Given the description of an element on the screen output the (x, y) to click on. 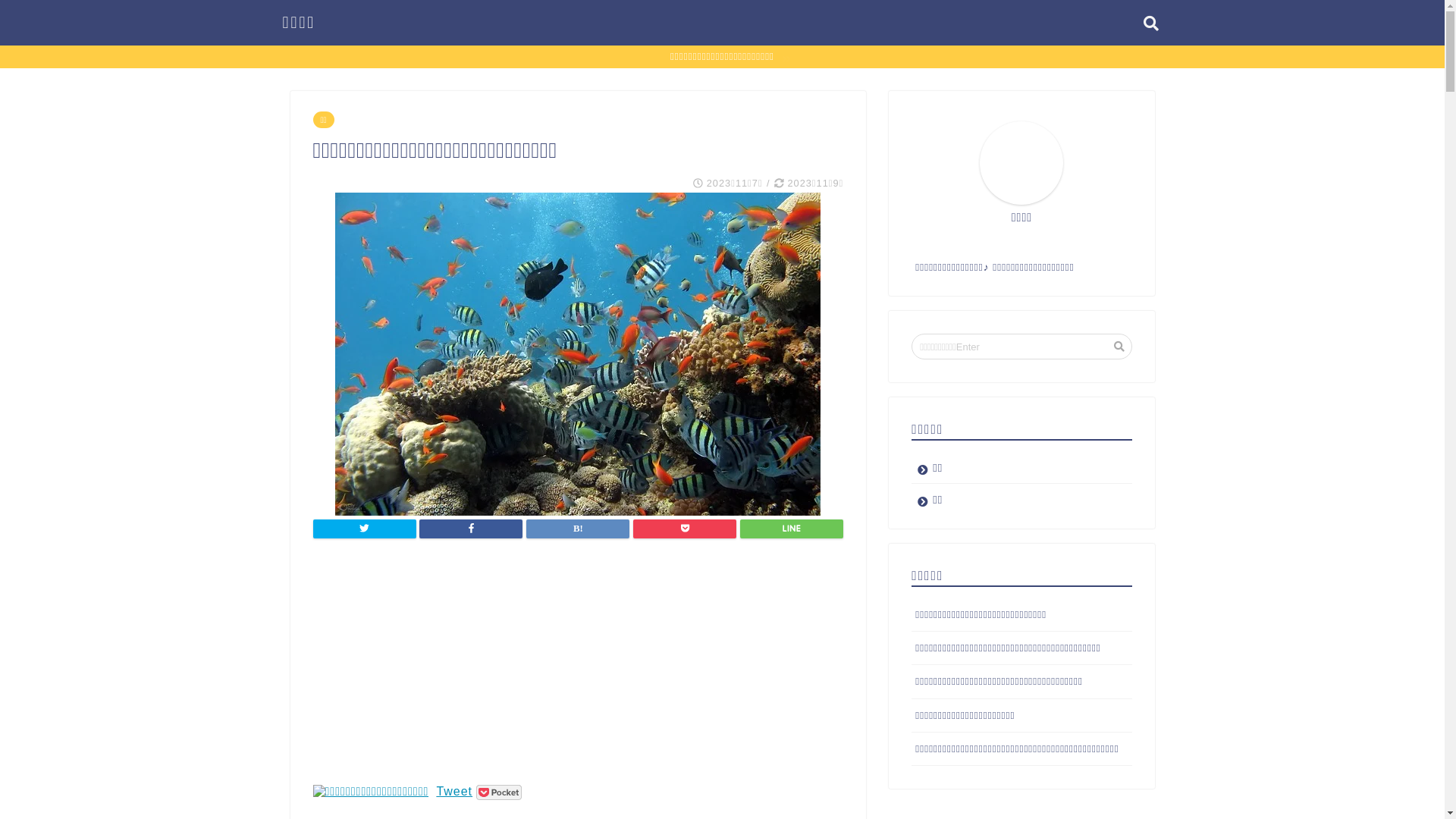
Tweet Element type: text (454, 790)
Advertisement Element type: hover (577, 670)
